Given the description of an element on the screen output the (x, y) to click on. 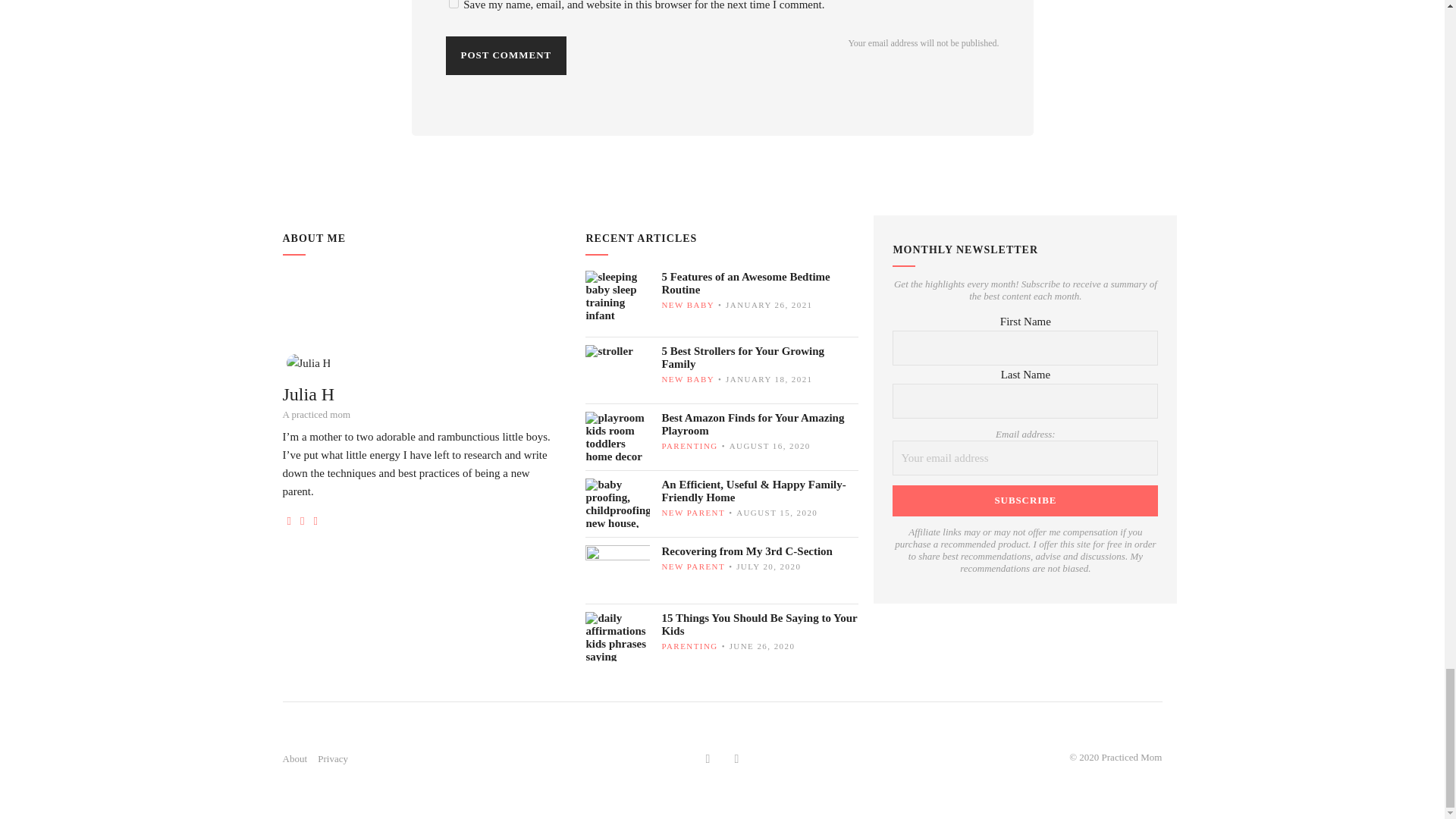
Subscribe (1024, 500)
5 Features of an Awesome Bedtime Routine (760, 283)
yes (453, 4)
15 Things You Should Be Saying to Your Kids (760, 624)
Recovering from My 3rd C-Section (760, 551)
Best Amazon Finds for Your Amazing Playroom (760, 424)
Post Comment (506, 55)
